Given the description of an element on the screen output the (x, y) to click on. 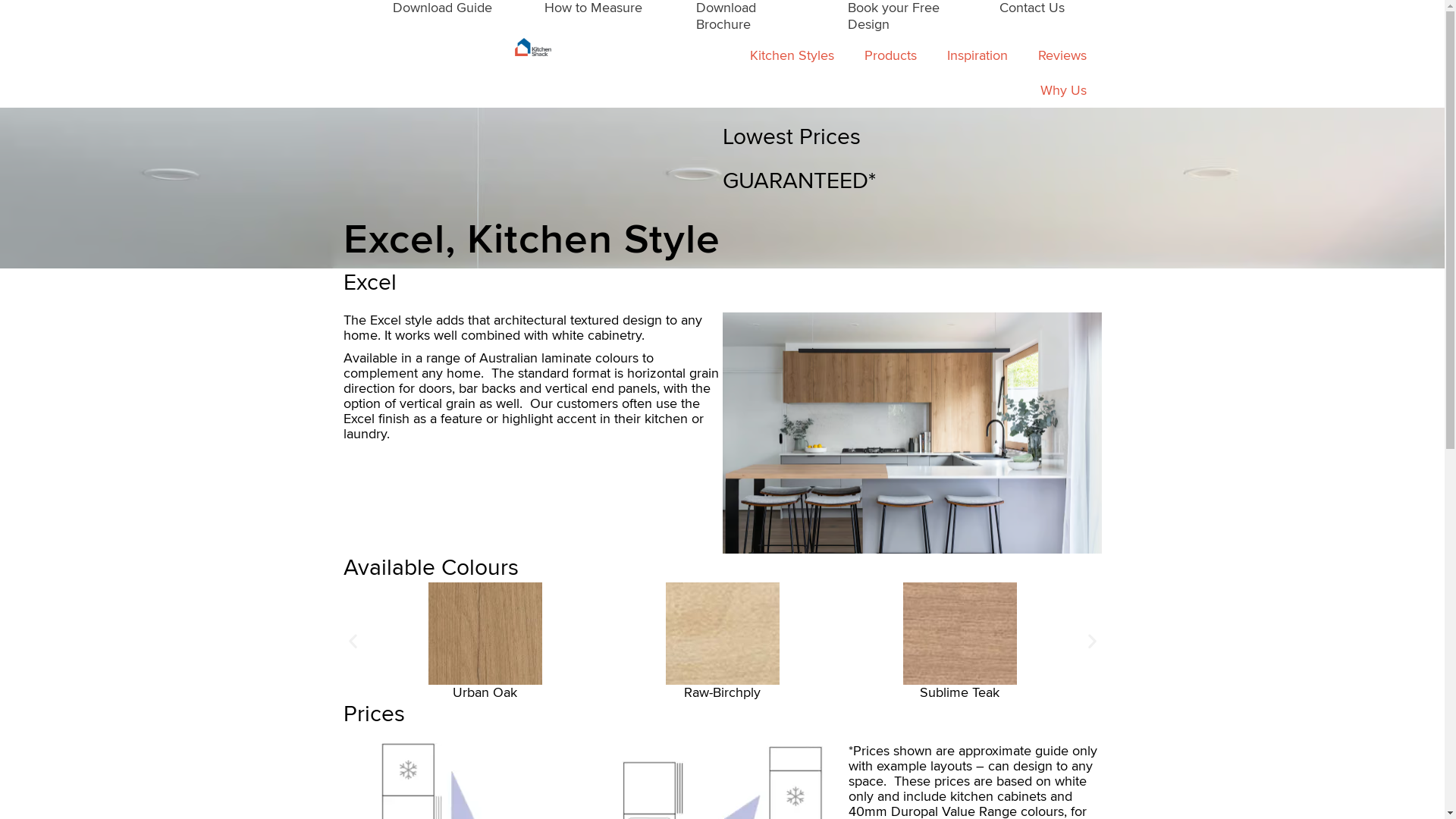
Inspiration Element type: text (976, 54)
GUARANTEED* Element type: text (798, 180)
Kitchen Styles Element type: text (791, 54)
Reviews Element type: text (1061, 54)
Products Element type: text (890, 54)
Why Us Element type: text (1063, 89)
Lowest Prices Element type: text (790, 136)
